Given the description of an element on the screen output the (x, y) to click on. 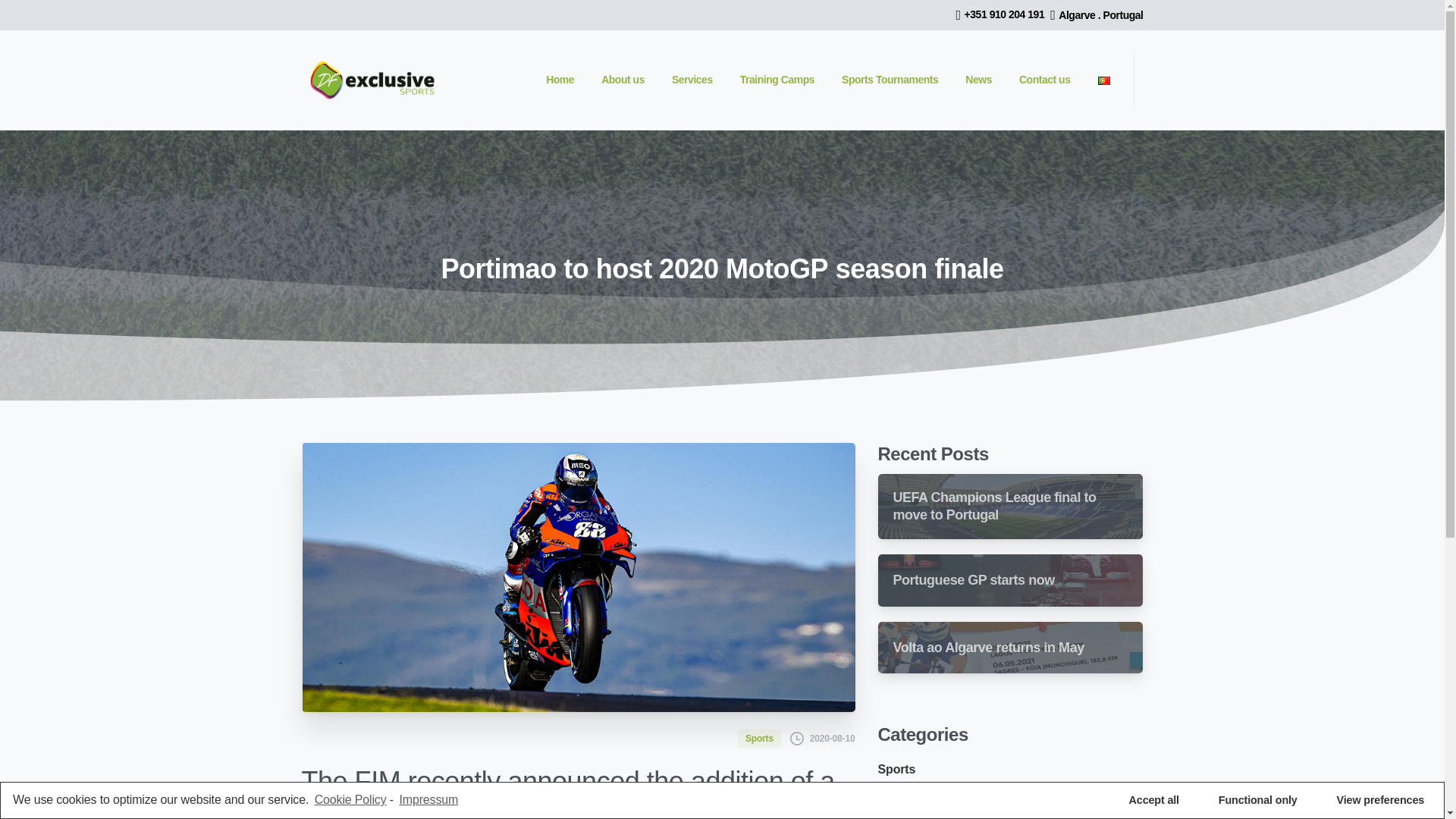
Volta ao Algarve returns in May (988, 647)
Services (692, 80)
Training Camps (777, 80)
UEFA Champions League final to move to Portugal (995, 506)
About us (622, 80)
Cookie Policy (350, 799)
Contact us (1045, 80)
UEFA Champions League final to move to Portugal (1009, 506)
Volta ao Algarve returns in May (1009, 646)
Accept all (1153, 800)
Home (559, 80)
View preferences (1380, 800)
Sports Tournaments (889, 80)
News (978, 80)
Contact us (1045, 80)
